Given the description of an element on the screen output the (x, y) to click on. 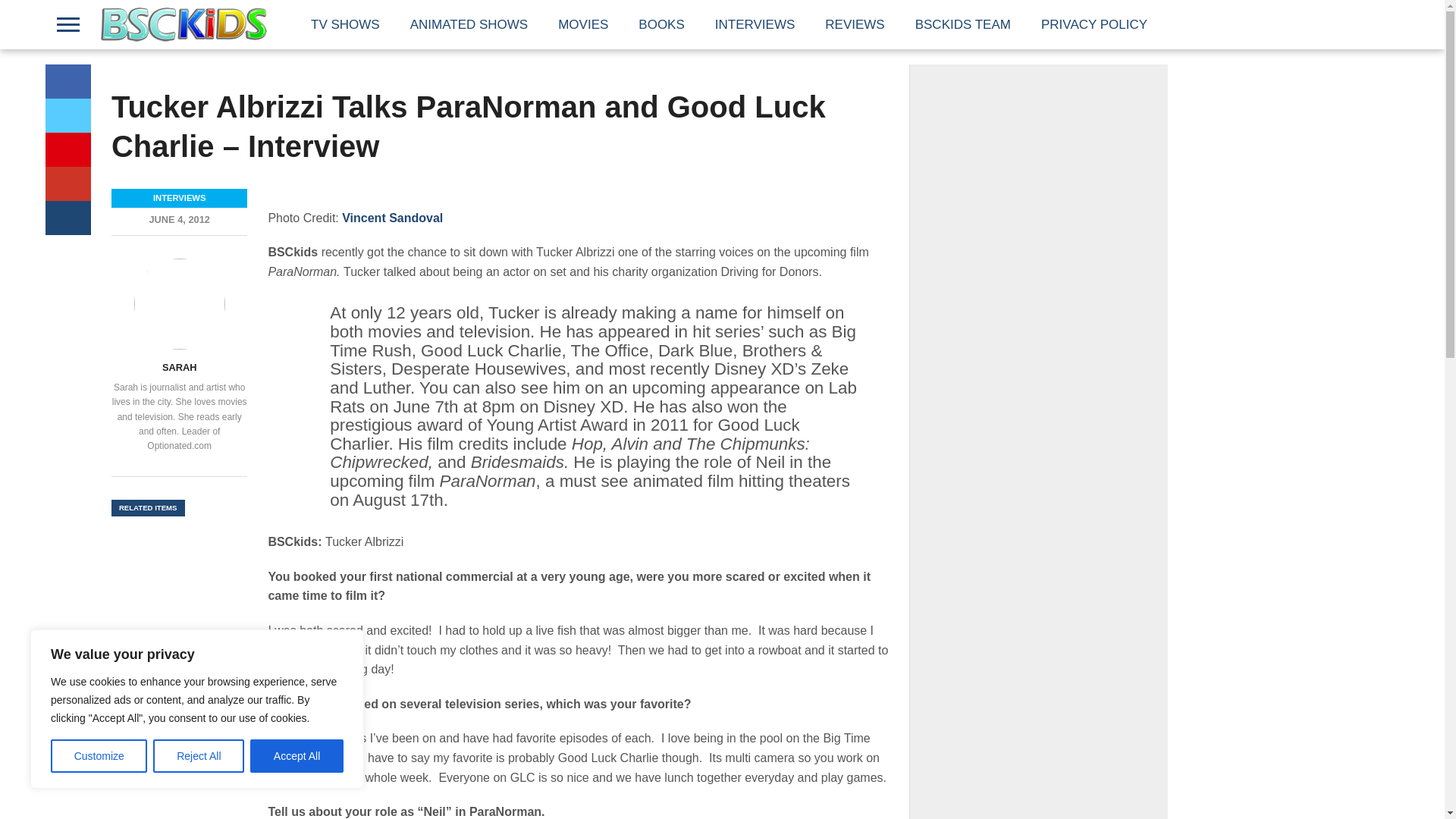
BOOKS (660, 24)
Tweet This Post (67, 115)
ANIMATED SHOWS (468, 24)
Pin This Post (67, 149)
Accept All (296, 756)
Customize (98, 756)
Posts by Sarah (178, 367)
REVIEWS (854, 24)
MOVIES (583, 24)
INTERVIEWS (754, 24)
BSCKIDS TEAM (962, 24)
Share on Facebook (67, 81)
Reject All (198, 756)
TV SHOWS (344, 24)
PRIVACY POLICY (1093, 24)
